Given the description of an element on the screen output the (x, y) to click on. 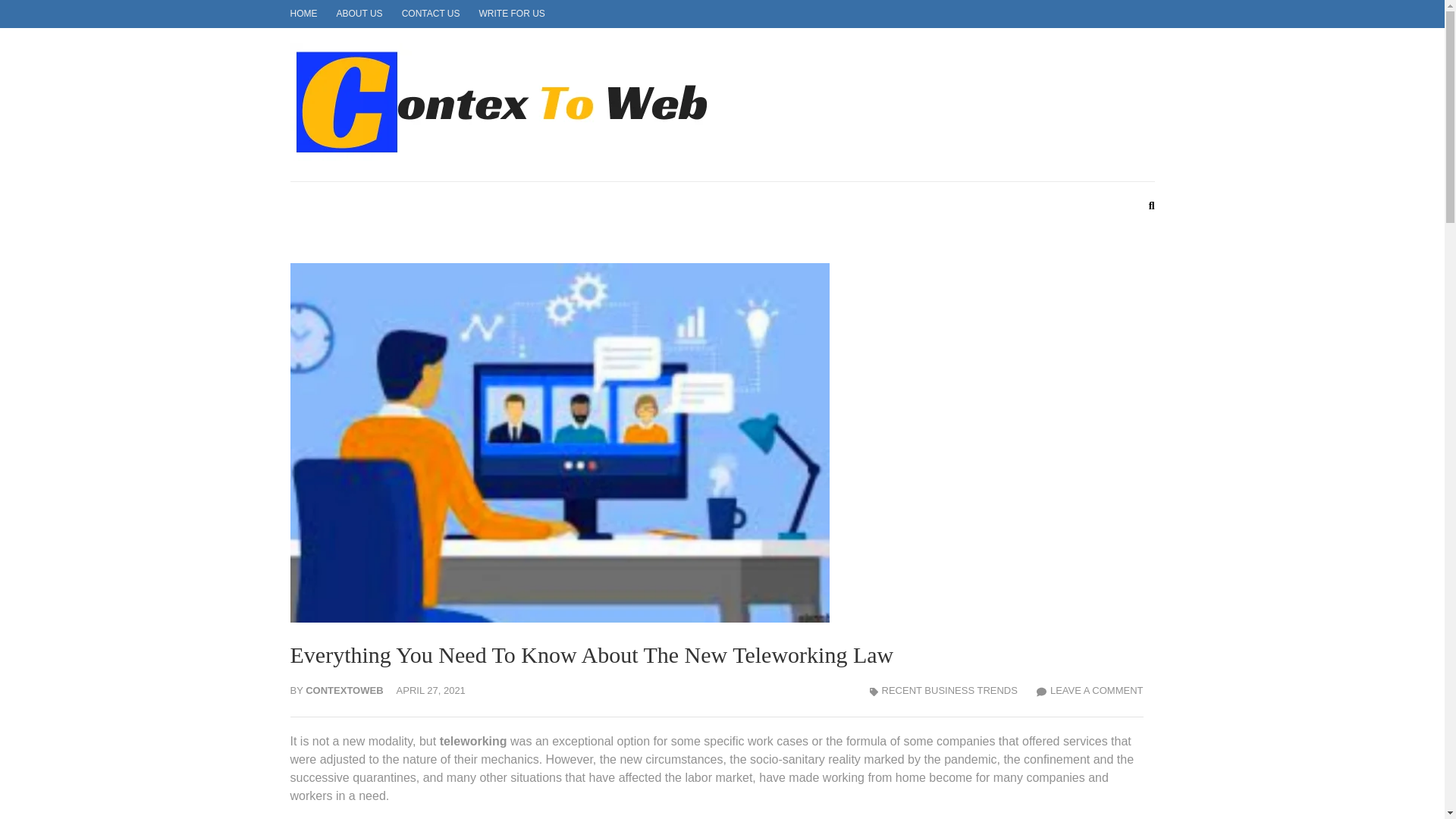
ABOUT US (359, 13)
APRIL 27, 2021 (430, 690)
HOME (303, 13)
CONTEXTOWEB (343, 690)
CONTEXTOWEB (836, 120)
CONTACT US (430, 13)
WRITE FOR US (511, 13)
RECENT BUSINESS TRENDS (949, 690)
